Given the description of an element on the screen output the (x, y) to click on. 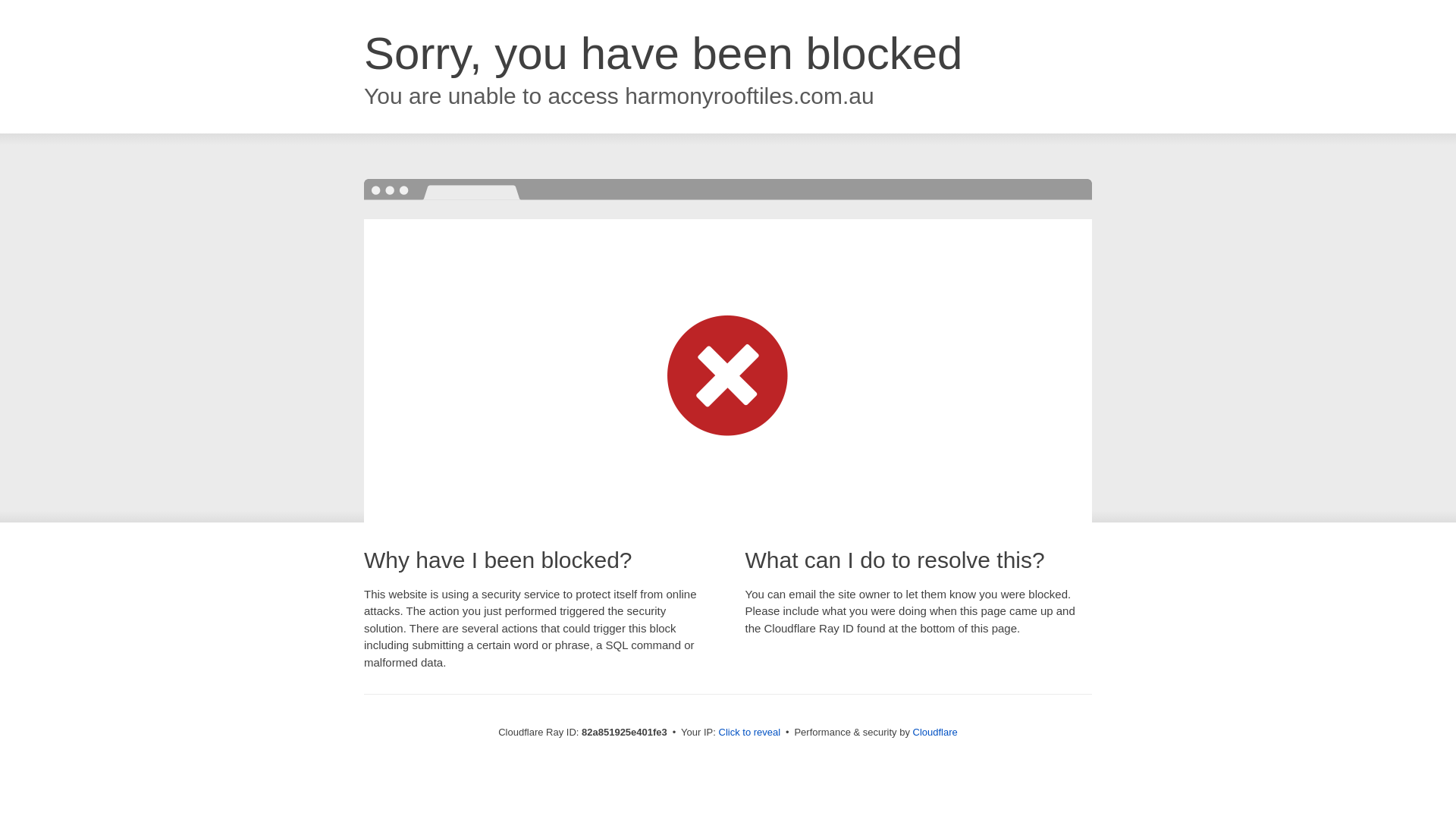
Click to reveal Element type: text (749, 732)
Cloudflare Element type: text (935, 731)
